Given the description of an element on the screen output the (x, y) to click on. 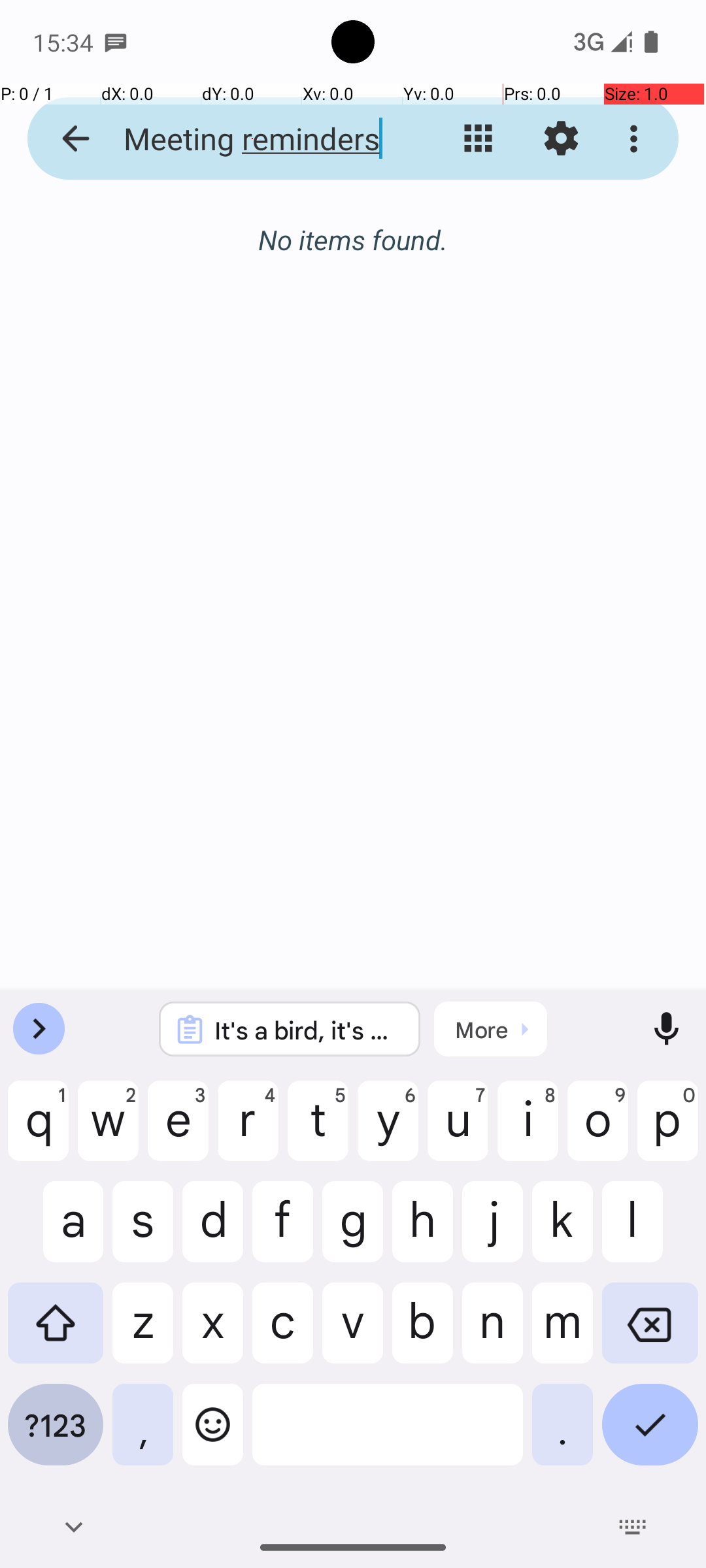
Meeting reminders Element type: android.widget.EditText (252, 138)
October 15 (Sun) Element type: android.widget.TextView (352, 253)
It's a bird, it's a plane. Element type: android.widget.TextView (306, 1029)
